Given the description of an element on the screen output the (x, y) to click on. 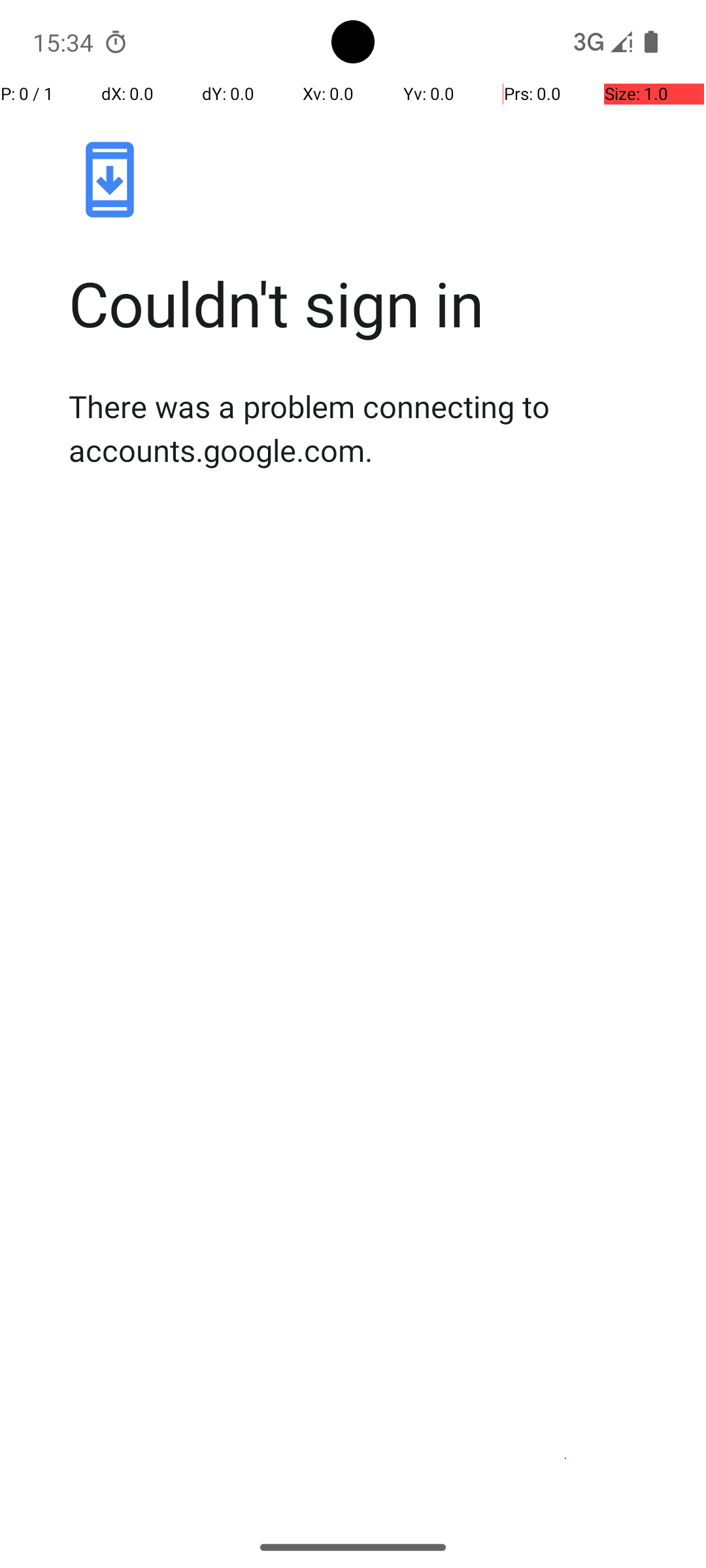
Couldn't sign in Element type: android.widget.TextView (366, 302)
There was a problem connecting to accounts.google.com. Element type: android.widget.TextView (366, 427)
